Given the description of an element on the screen output the (x, y) to click on. 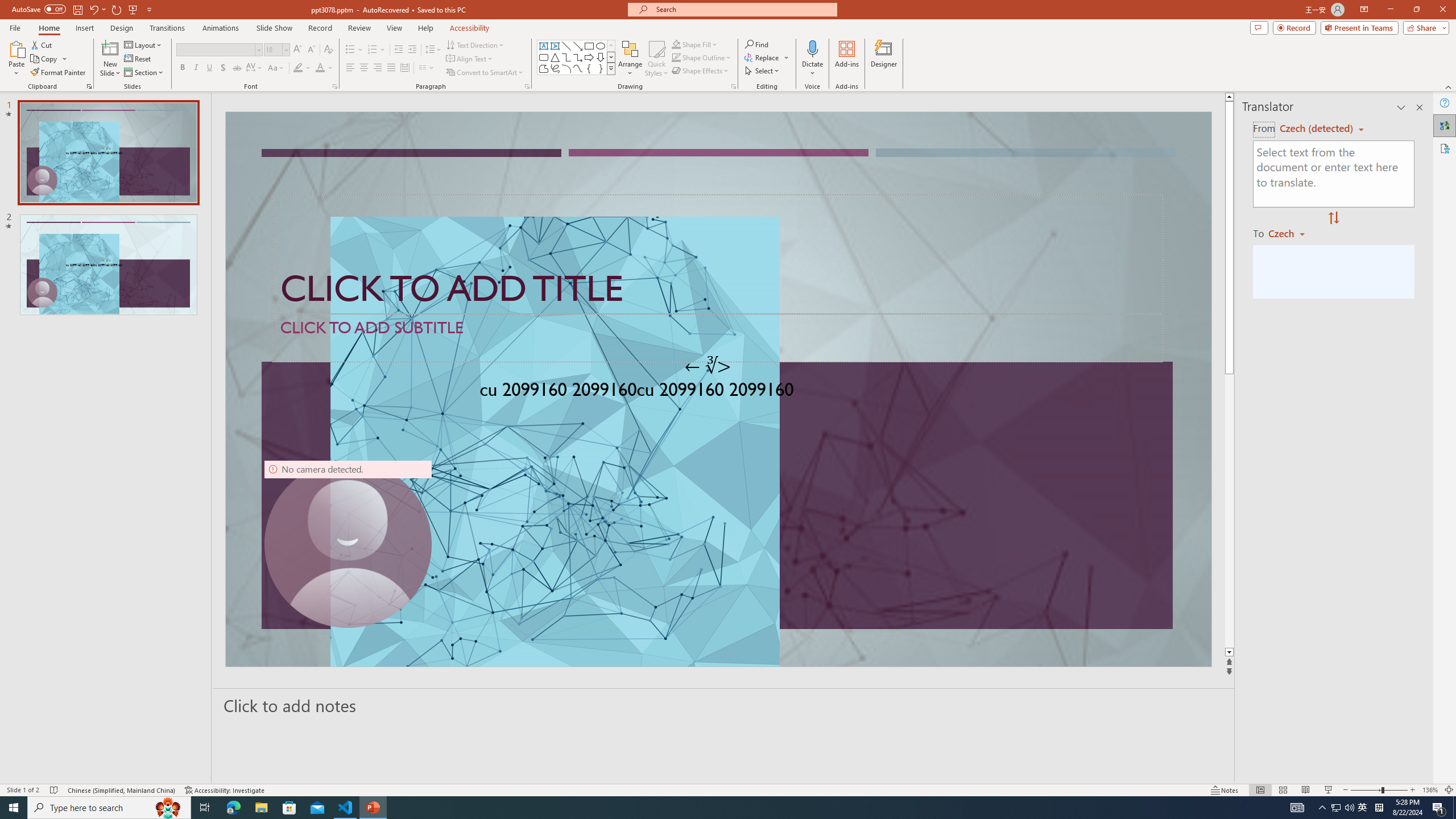
Title TextBox (717, 254)
